Given the description of an element on the screen output the (x, y) to click on. 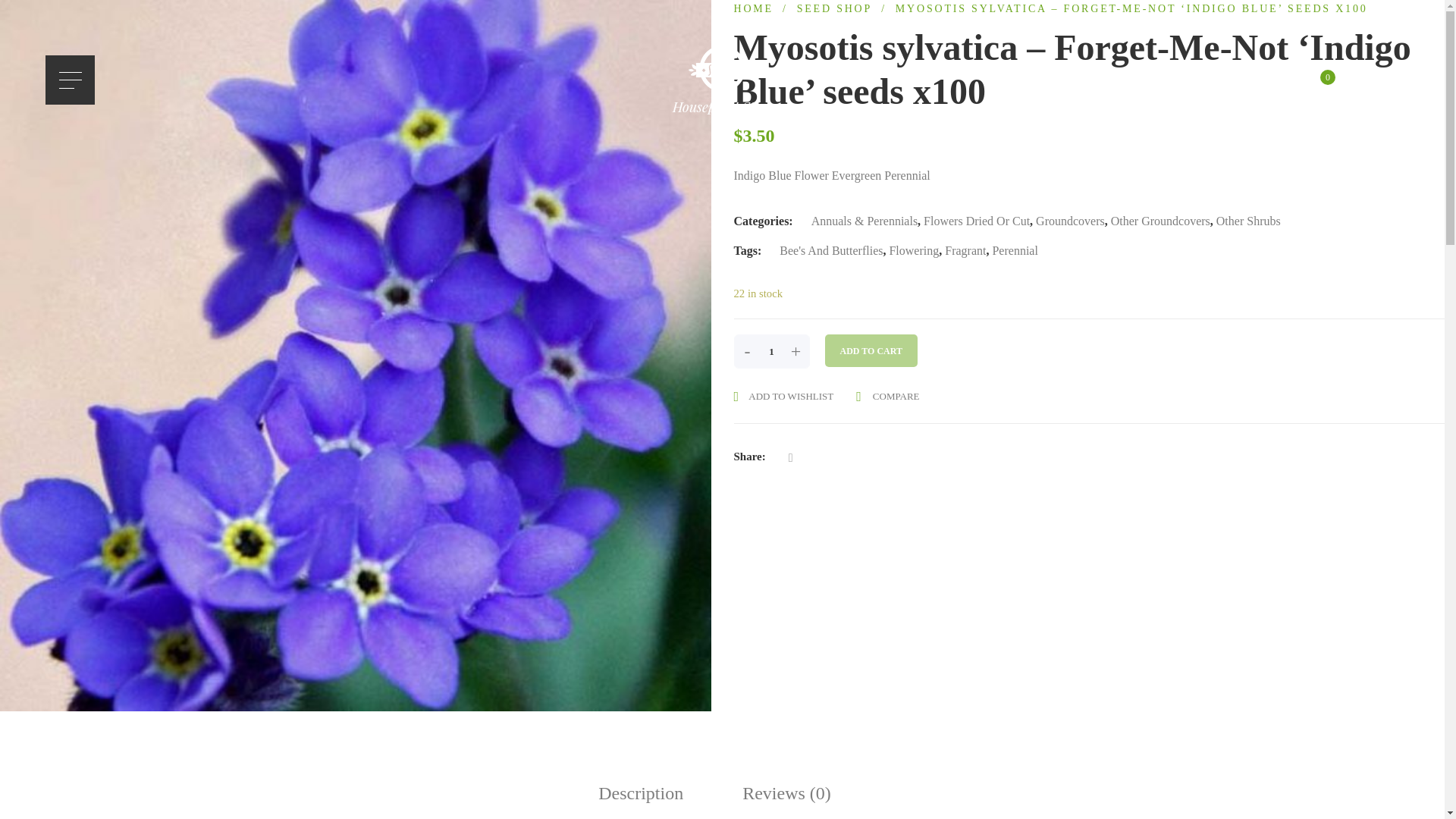
ADD TO CART (871, 350)
Other Shrubs (1248, 220)
Description (648, 793)
SEED SHOP (834, 8)
Fragrant (964, 250)
Other Groundcovers (1159, 220)
Bee'S And Butterflies (830, 250)
Flowers Dried Or Cut (976, 220)
Groundcovers (1070, 220)
Flowering (913, 250)
ADD TO WISHLIST (783, 396)
HOME (753, 8)
COMPARE (887, 395)
1 (771, 351)
Qty (771, 351)
